Given the description of an element on the screen output the (x, y) to click on. 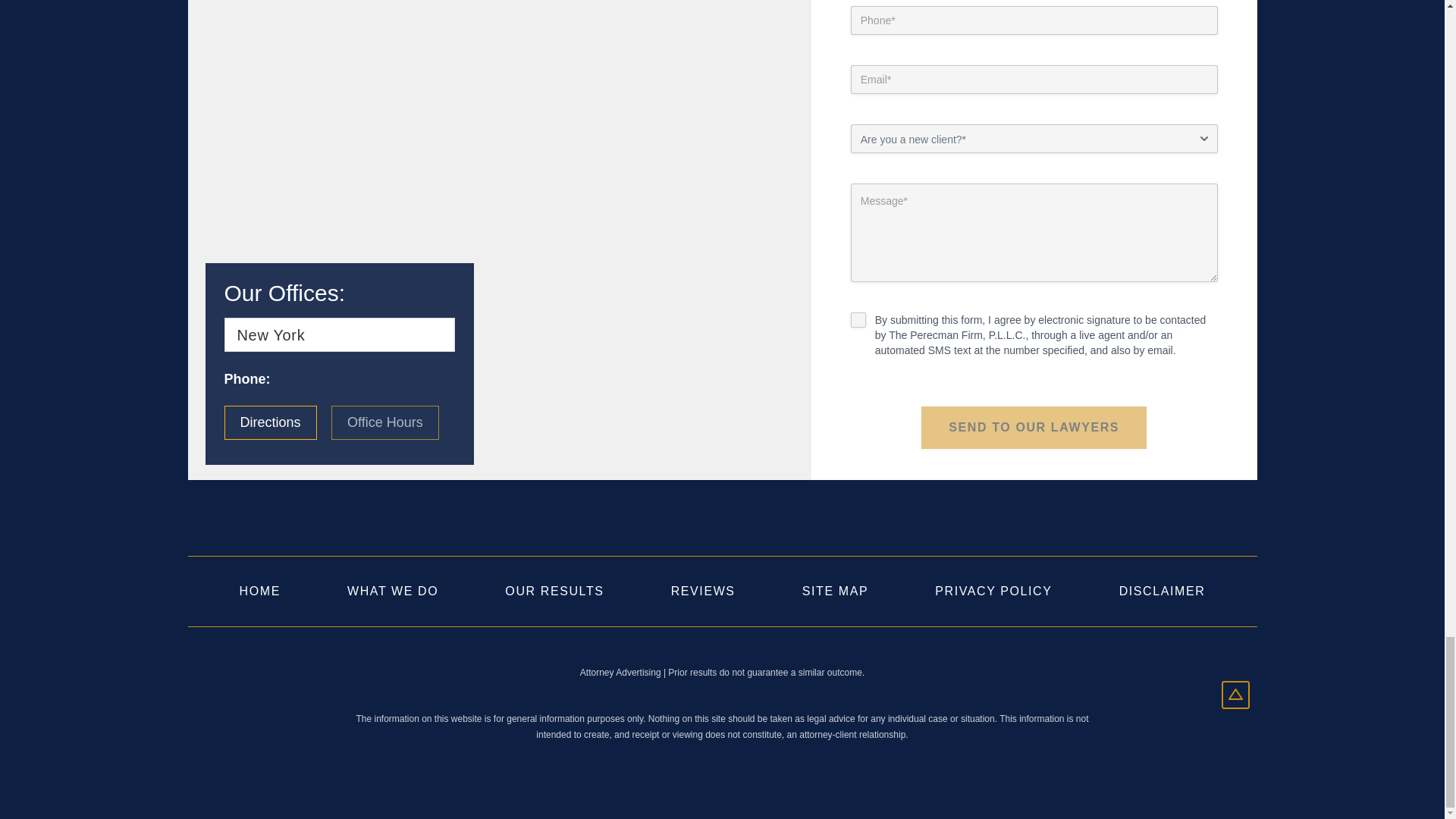
Send to our Lawyers (1034, 427)
